Given the description of an element on the screen output the (x, y) to click on. 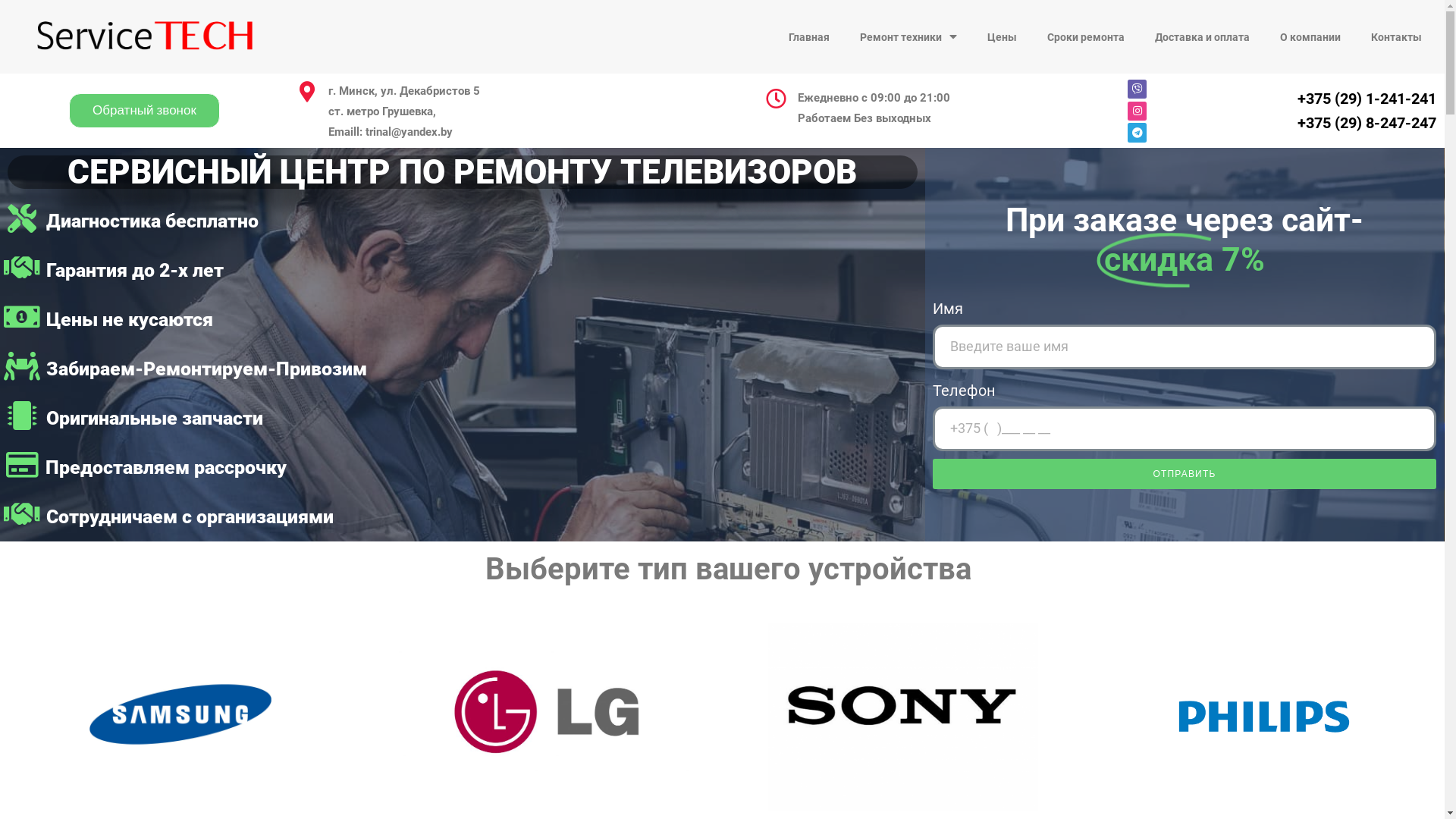
+375 (29) 1-241-241 Element type: text (1366, 98)
+375 (29) 8-247-247 Element type: text (1366, 122)
